Given the description of an element on the screen output the (x, y) to click on. 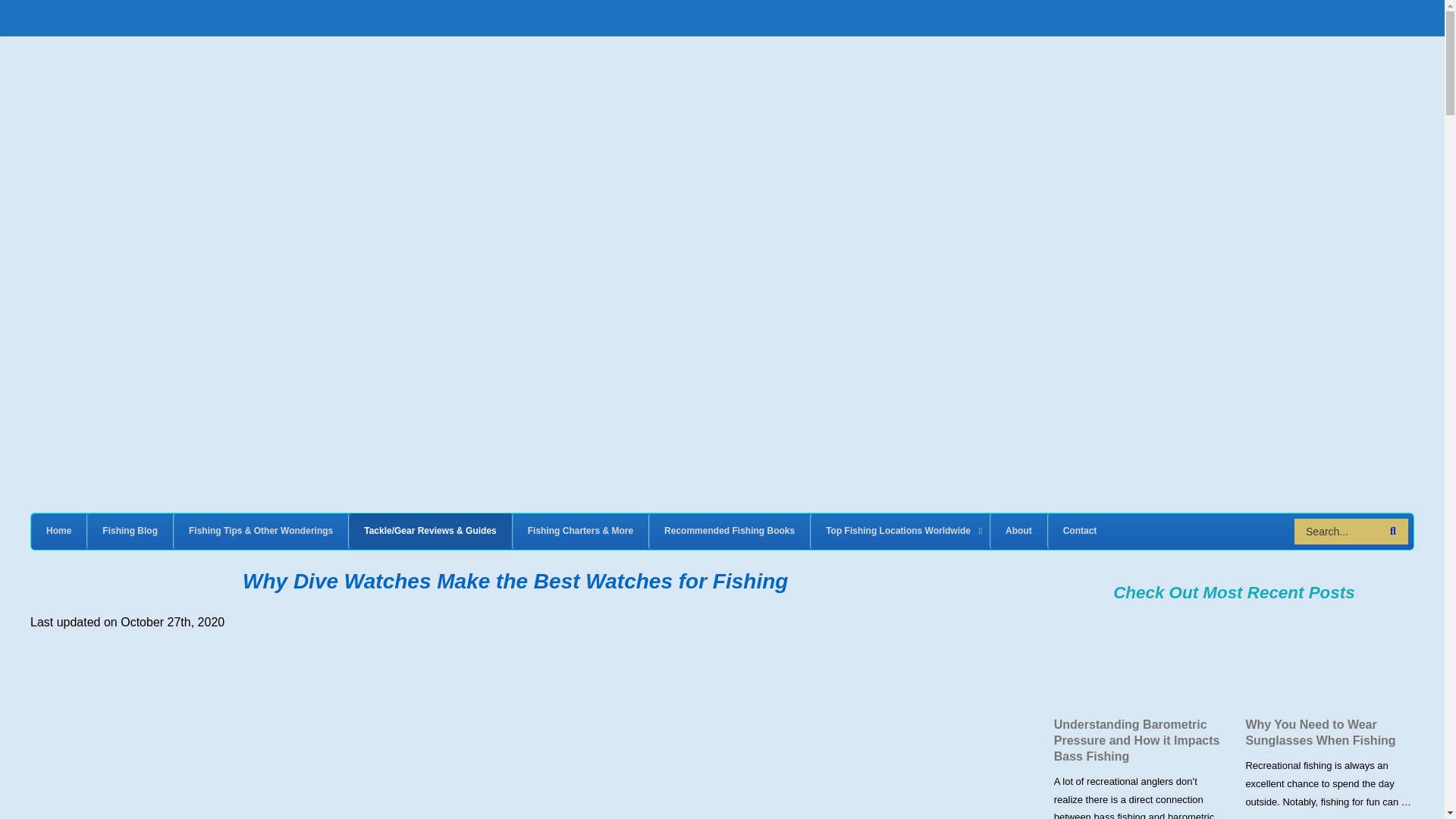
Recommended Fishing Books (728, 530)
Reel Adventure Fishing (182, 73)
Fishing Blog (129, 530)
Home (57, 530)
Reel Adventure Fishing (182, 73)
